Given the description of an element on the screen output the (x, y) to click on. 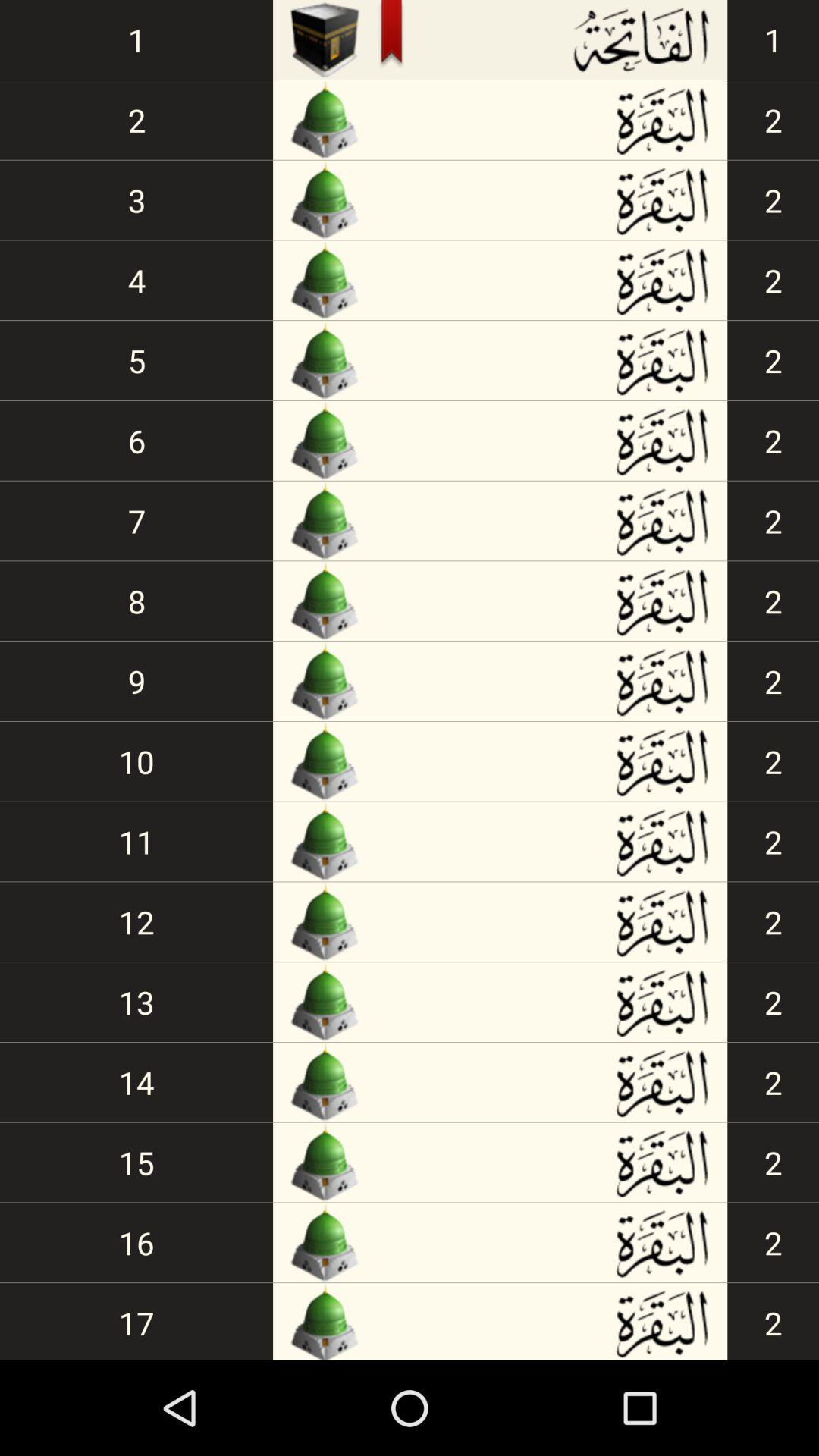
swipe to 8 app (136, 600)
